Given the description of an element on the screen output the (x, y) to click on. 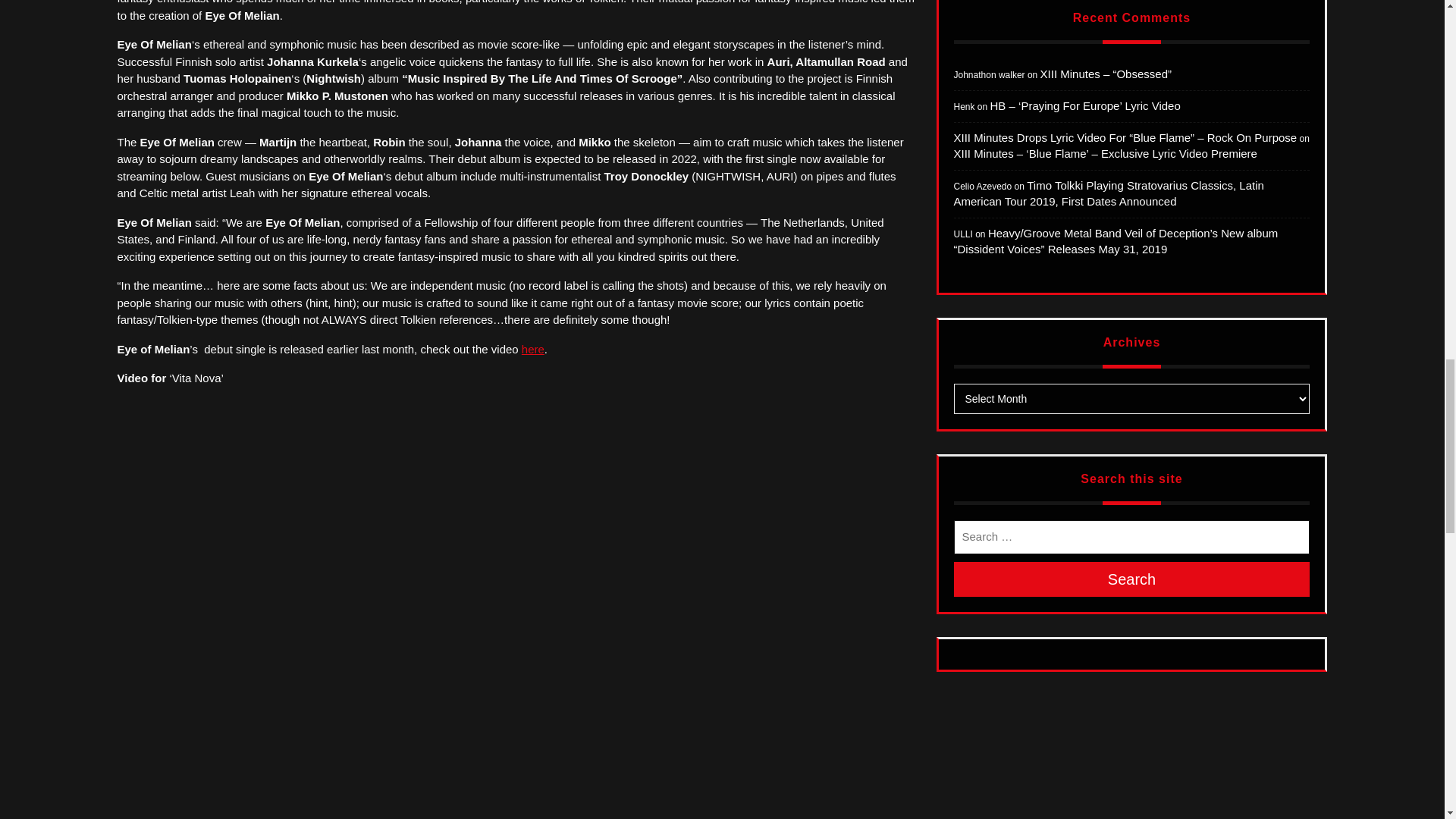
here (532, 349)
